Given the description of an element on the screen output the (x, y) to click on. 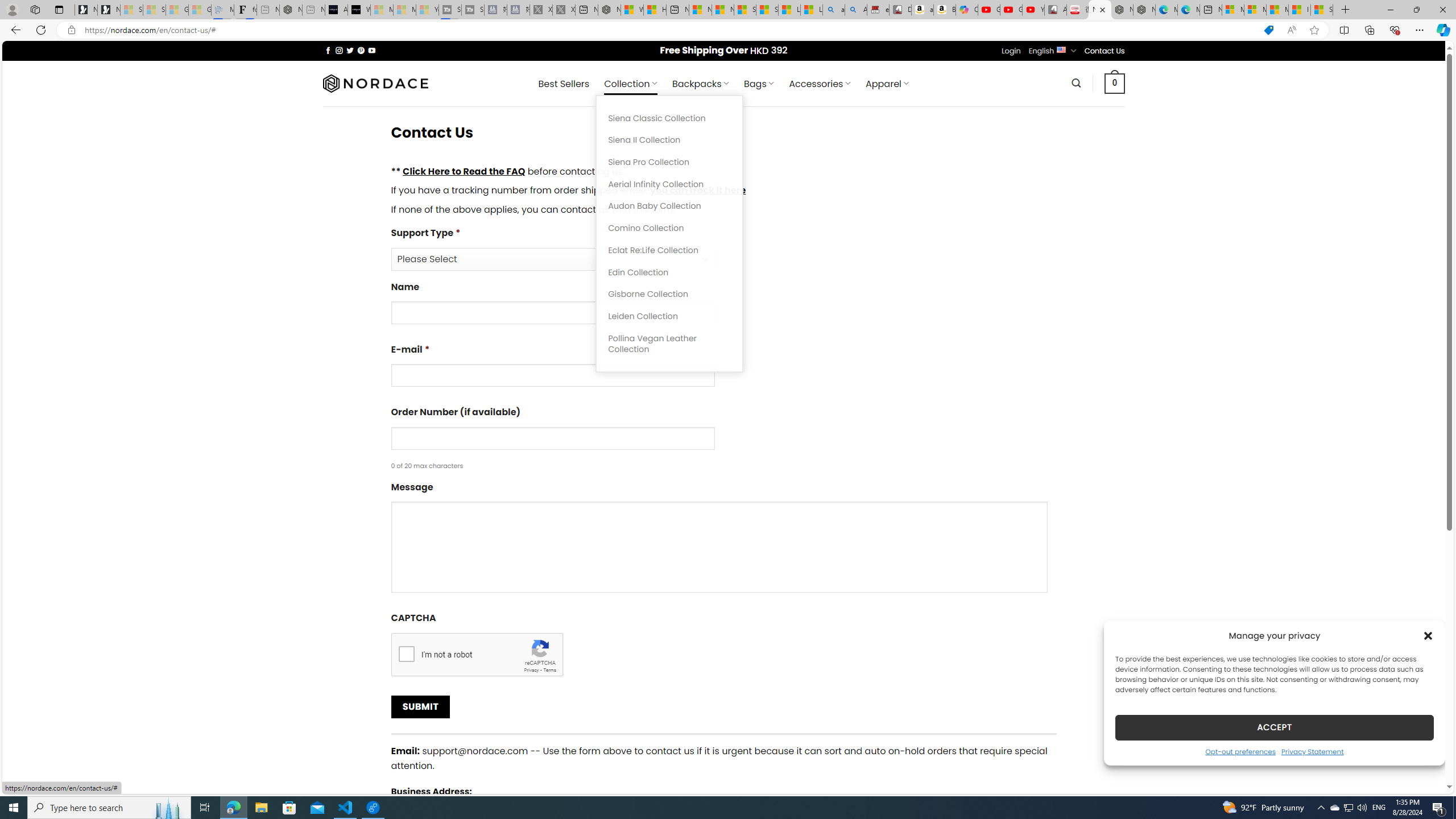
Leiden Collection (669, 316)
English (1061, 49)
Message (723, 540)
Message (719, 546)
Eclat Re:Life Collection (669, 250)
